Given the description of an element on the screen output the (x, y) to click on. 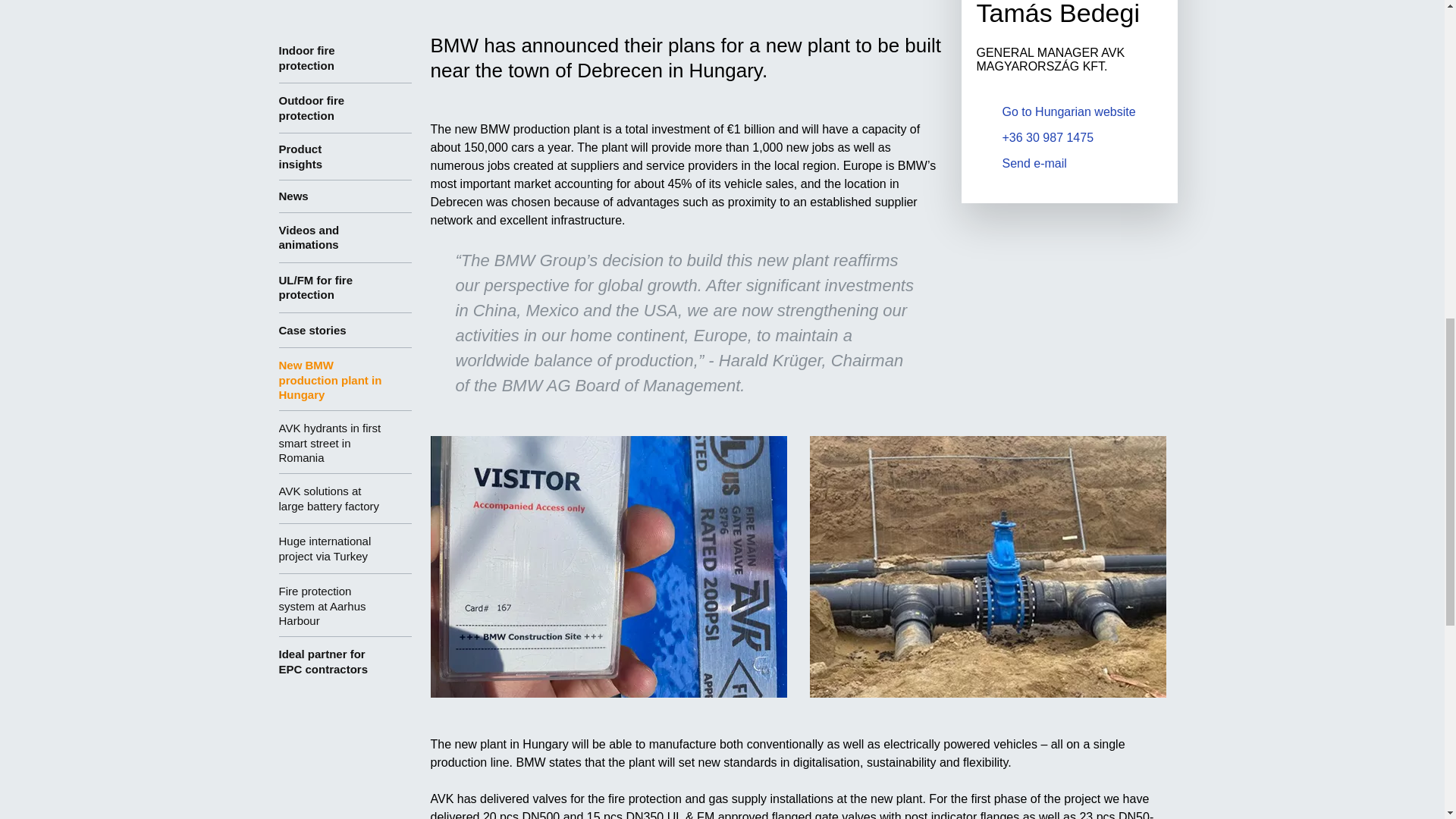
Product insights (345, 156)
Indoor fire protection (345, 57)
Outdoor fire protection (345, 107)
News (345, 196)
